Given the description of an element on the screen output the (x, y) to click on. 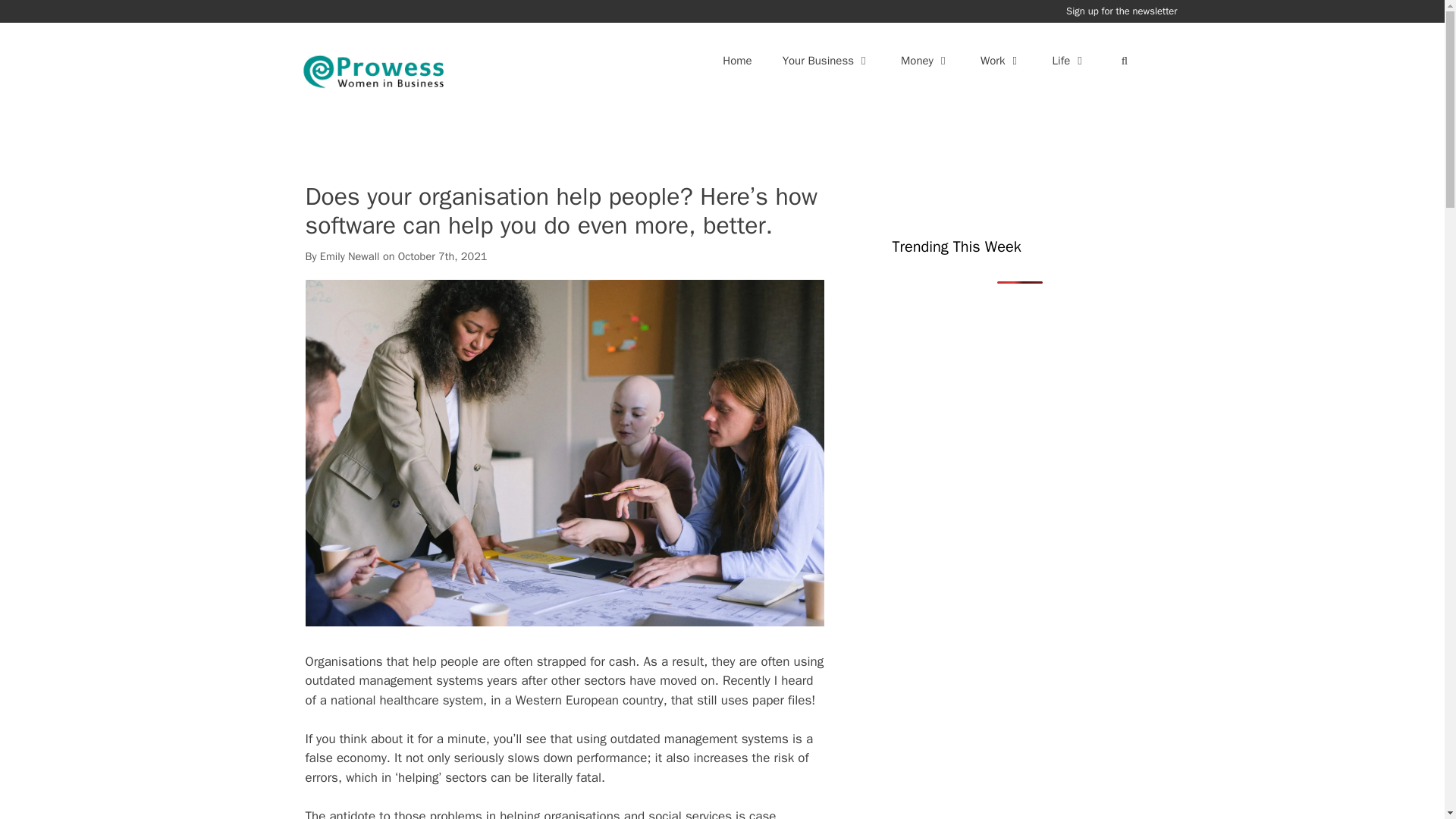
Your Business (826, 60)
Posts by Emily Newall (350, 255)
Money (925, 60)
Home (737, 60)
Life (1069, 60)
Work (1000, 60)
Sign up for the newsletter (1120, 10)
